Given the description of an element on the screen output the (x, y) to click on. 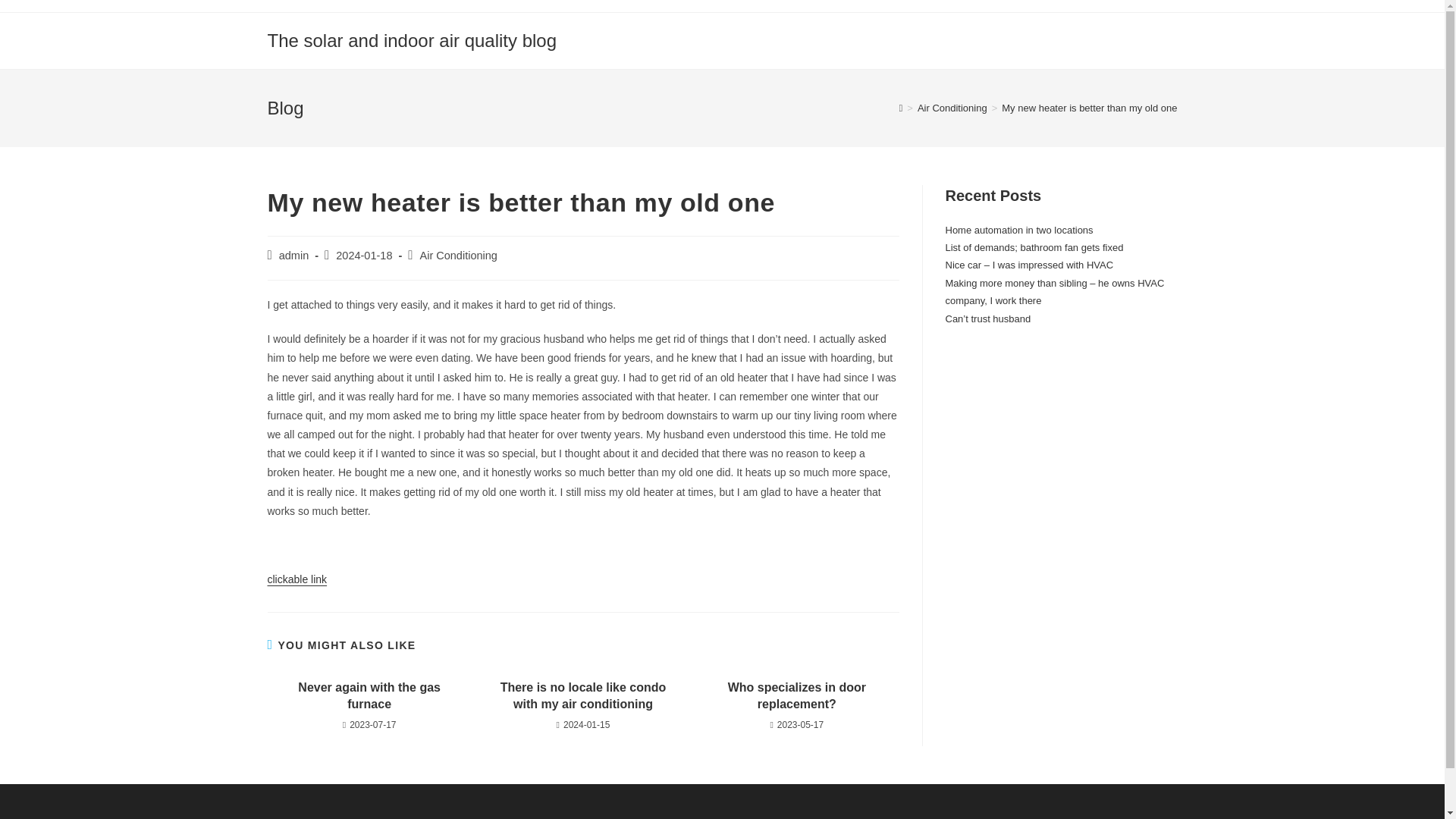
List of demands; bathroom fan gets fixed (1033, 247)
Who specializes in door replacement? (796, 696)
Air Conditioning (458, 255)
My new heater is better than my old one (1088, 107)
Posts by admin (293, 255)
Never again with the gas furnace (368, 696)
admin (293, 255)
clickable link (296, 579)
The solar and indoor air quality blog (411, 40)
There is no locale like condo with my air conditioning (582, 696)
Air Conditioning (952, 107)
Home automation in two locations (1018, 229)
